Given the description of an element on the screen output the (x, y) to click on. 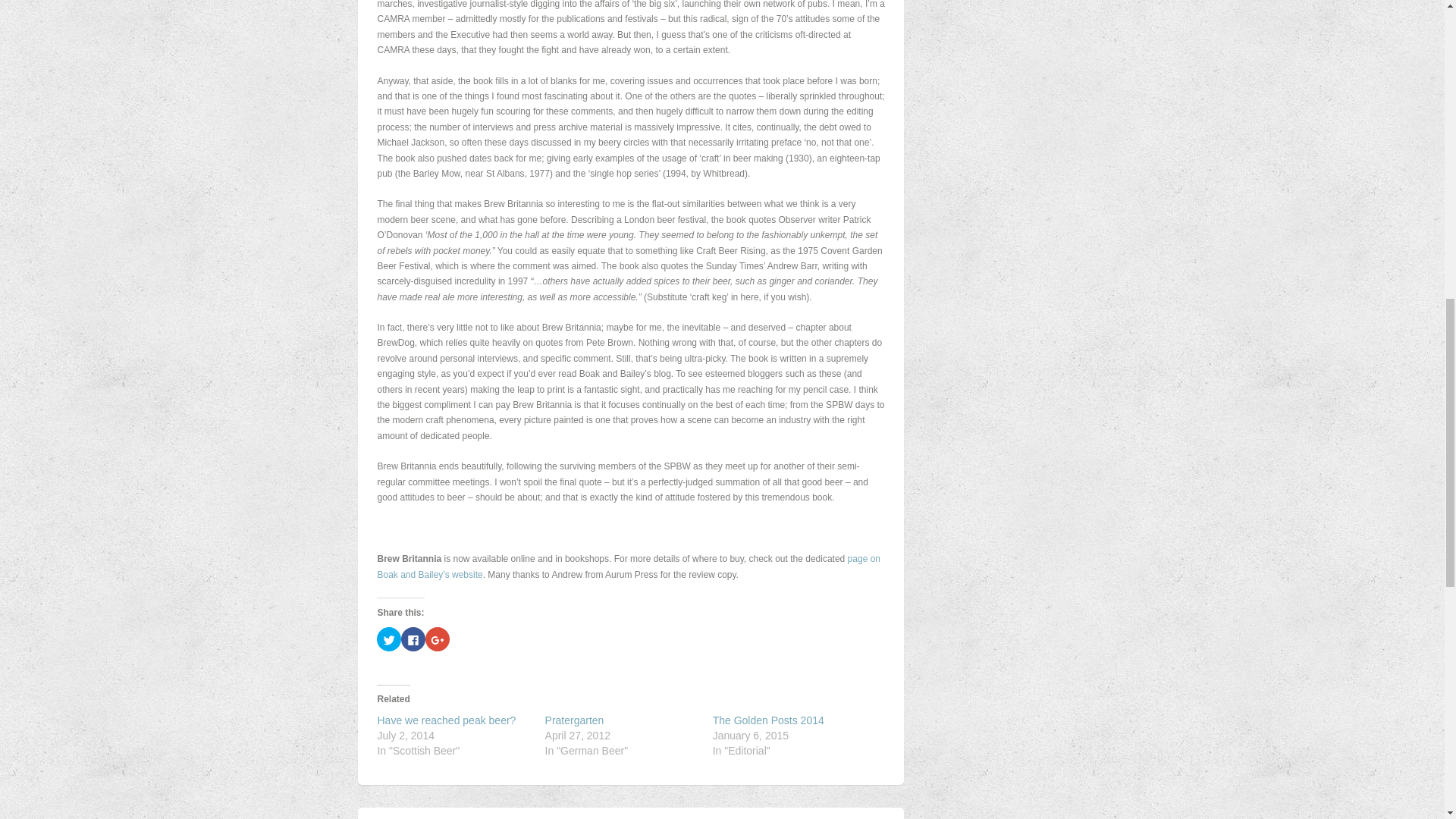
The Golden Posts 2014 (768, 720)
Pratergarten (574, 720)
The Golden Posts 2014 (768, 720)
Click to share on Twitter (389, 639)
Click to share on Facebook (413, 639)
Have we reached peak beer? (446, 720)
